Given the description of an element on the screen output the (x, y) to click on. 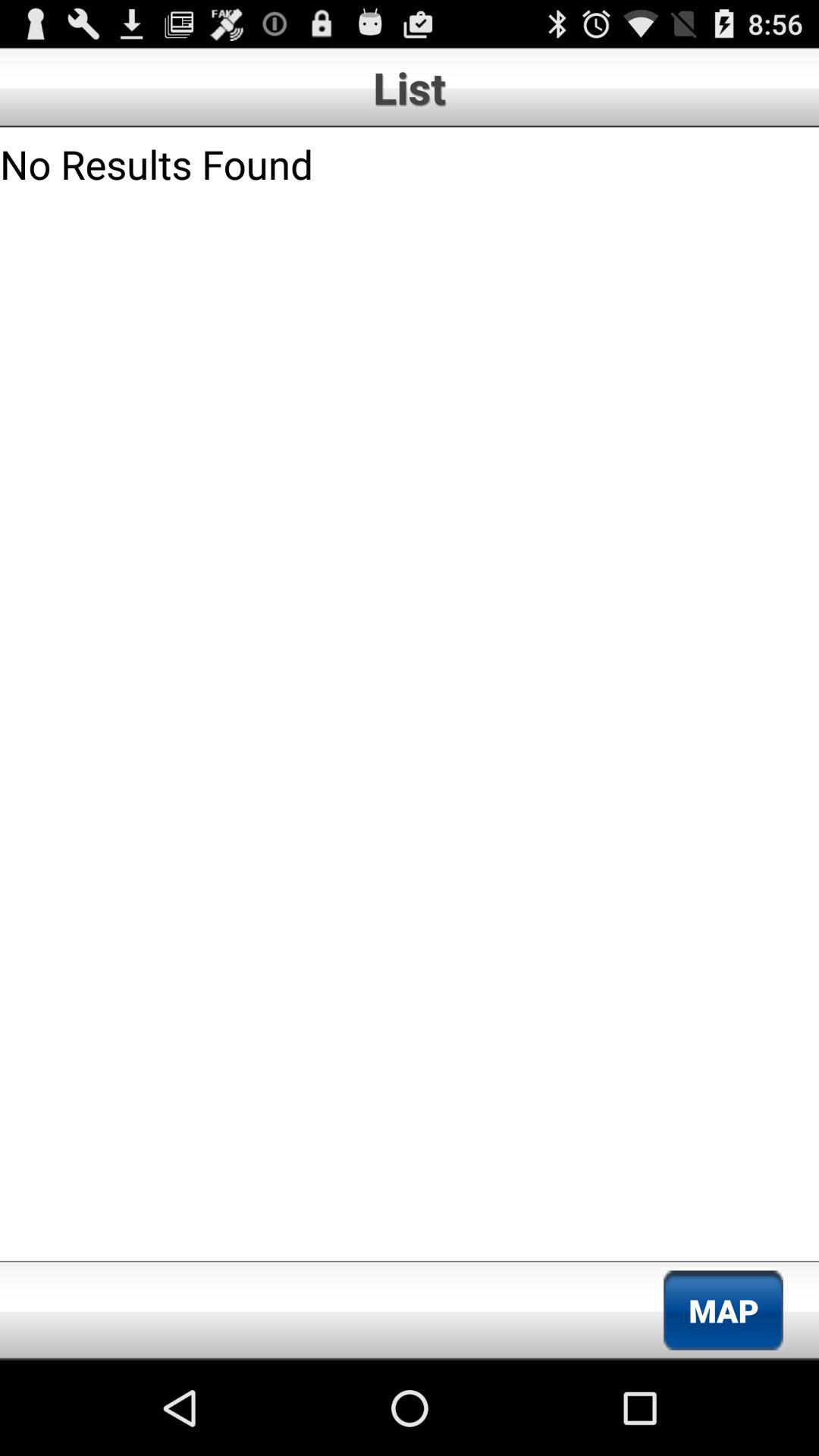
press the item at the bottom right corner (723, 1310)
